Given the description of an element on the screen output the (x, y) to click on. 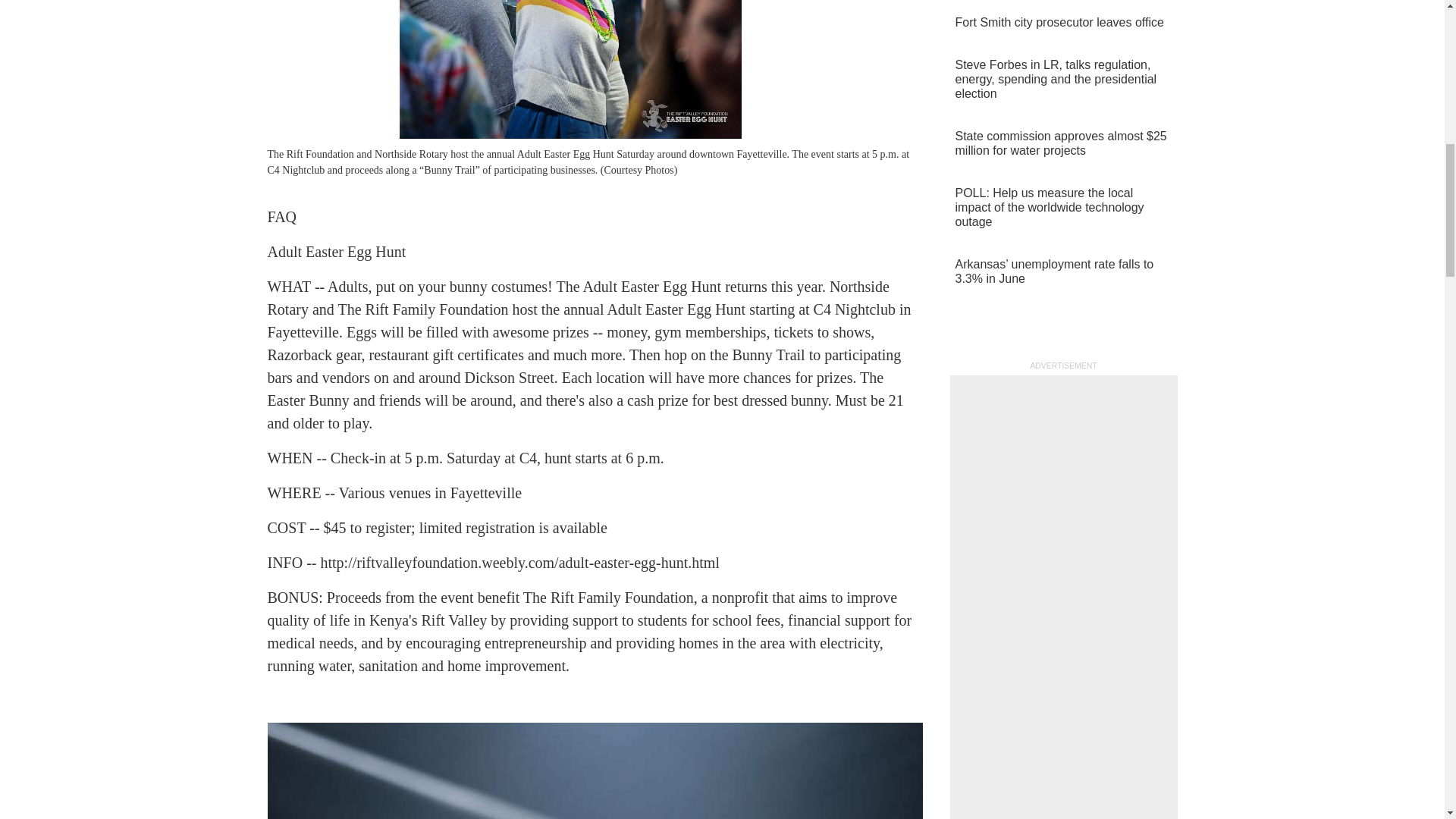
Fort Smith city prosecutor leaves office (1062, 22)
